Given the description of an element on the screen output the (x, y) to click on. 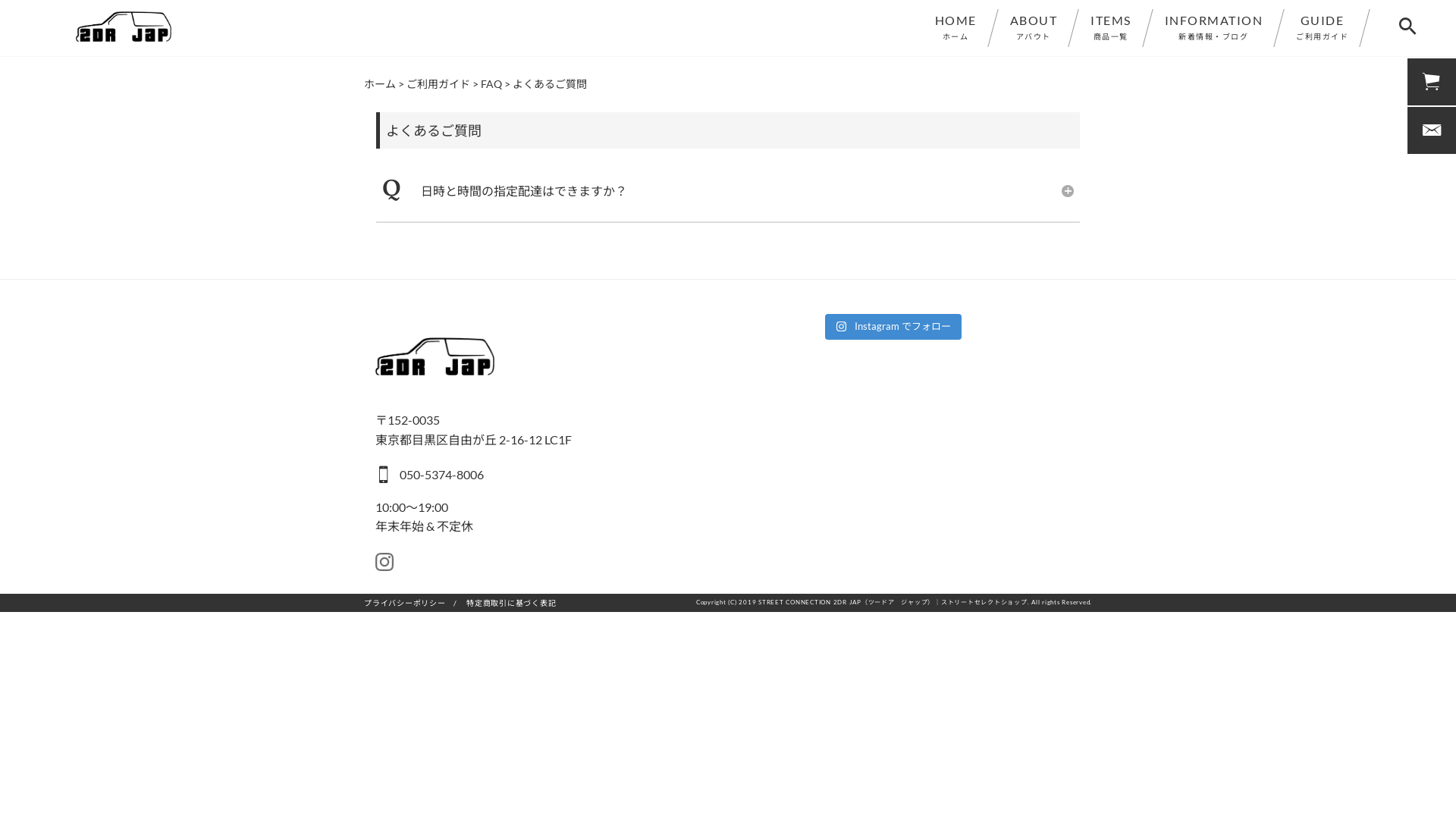
050-5374-8006 Element type: text (526, 470)
FAQ Element type: text (491, 83)
